Given the description of an element on the screen output the (x, y) to click on. 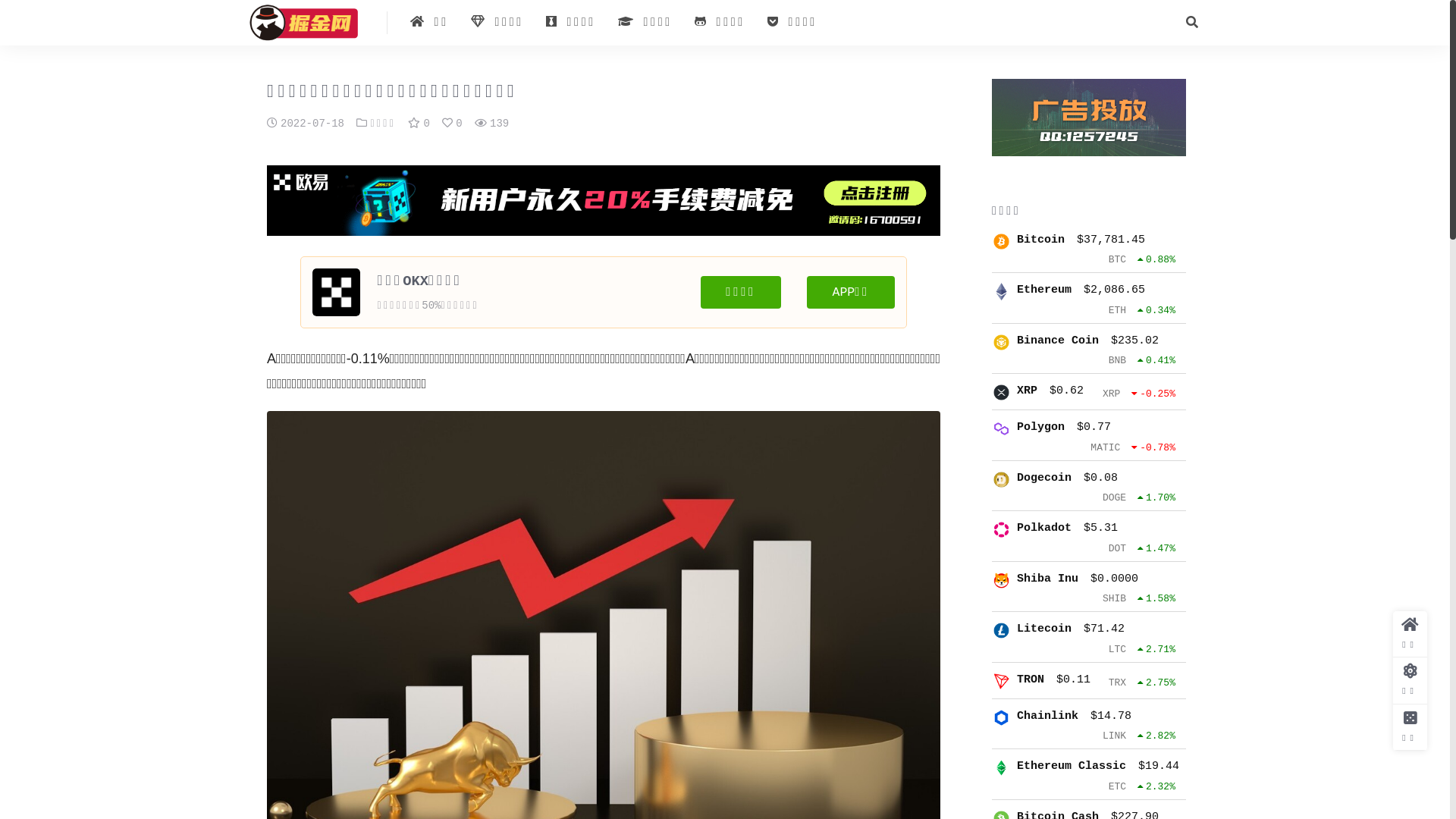
Ethereum $2,086.65
ETH 0.34% Element type: text (1088, 302)
Binance Coin $235.02
BNB 0.41% Element type: text (1088, 353)
